Given the description of an element on the screen output the (x, y) to click on. 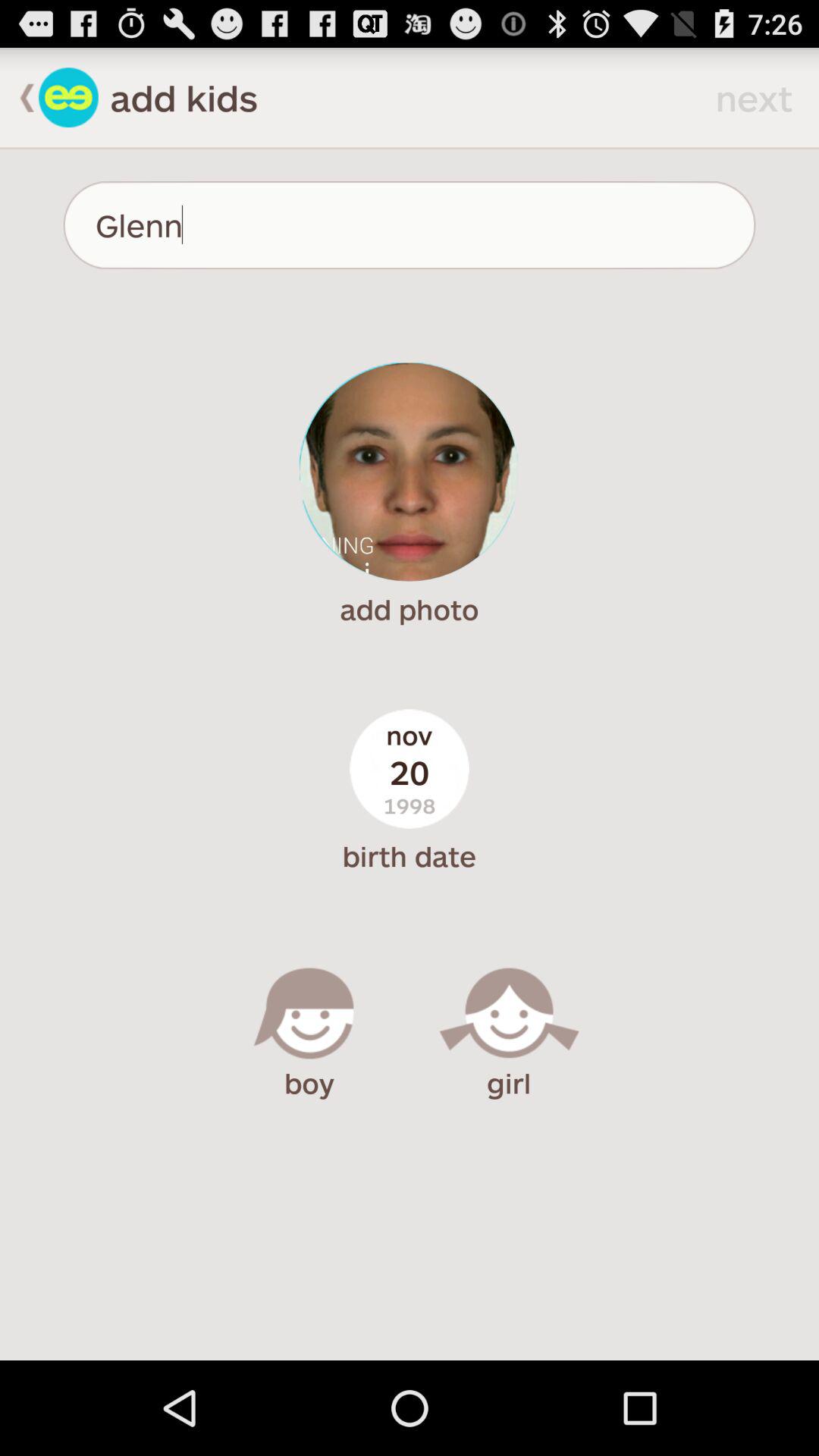
add your own photo (408, 471)
